Given the description of an element on the screen output the (x, y) to click on. 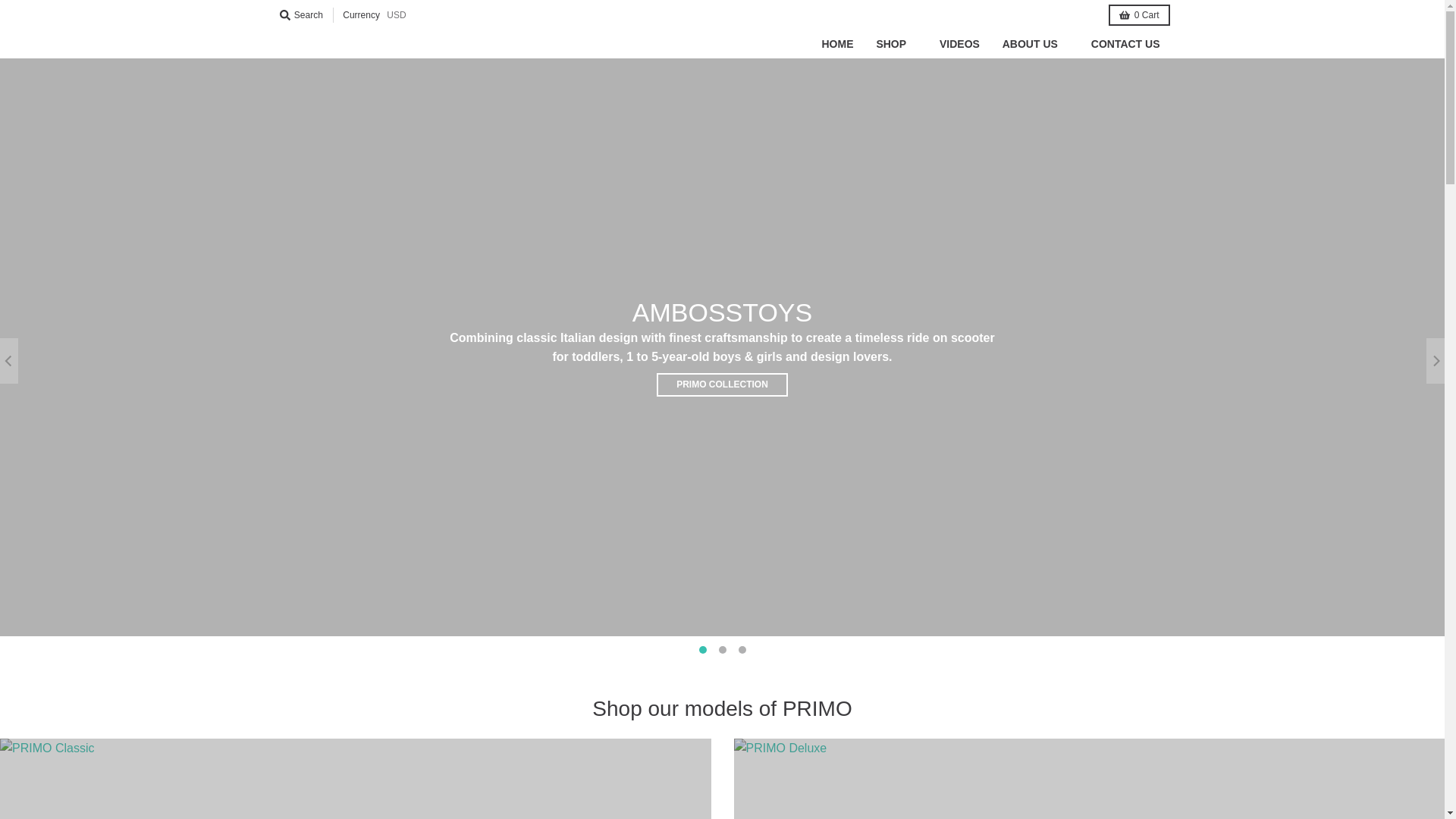
SHOP (896, 43)
CONTACT US (1125, 43)
ABOUT US (1035, 43)
0 Cart (1138, 14)
Search (300, 14)
HOME (836, 43)
PRIMO COLLECTION (721, 384)
VIDEOS (960, 43)
